Given the description of an element on the screen output the (x, y) to click on. 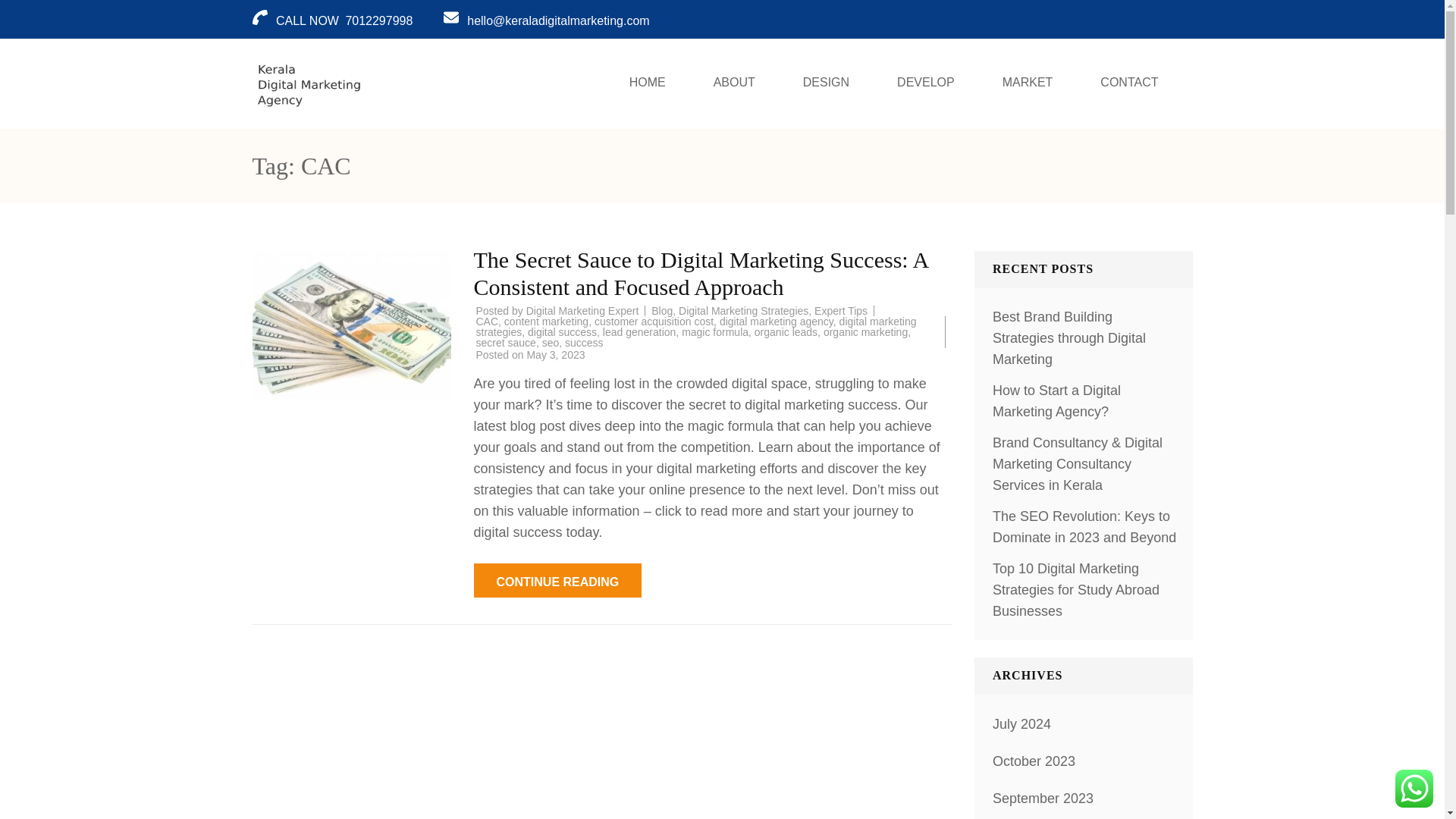
Digital Marketing Strategies (743, 310)
digital marketing agency (775, 321)
organic marketing (865, 331)
content marketing (545, 321)
digital marketing strategies (696, 326)
Blog (661, 310)
customer acquisition cost (653, 321)
CAC (487, 321)
lead generation (639, 331)
MARKET (1027, 83)
ABOUT (734, 83)
Digital Marketing Expert (582, 310)
organic leads (785, 331)
Expert Tips (840, 310)
